Given the description of an element on the screen output the (x, y) to click on. 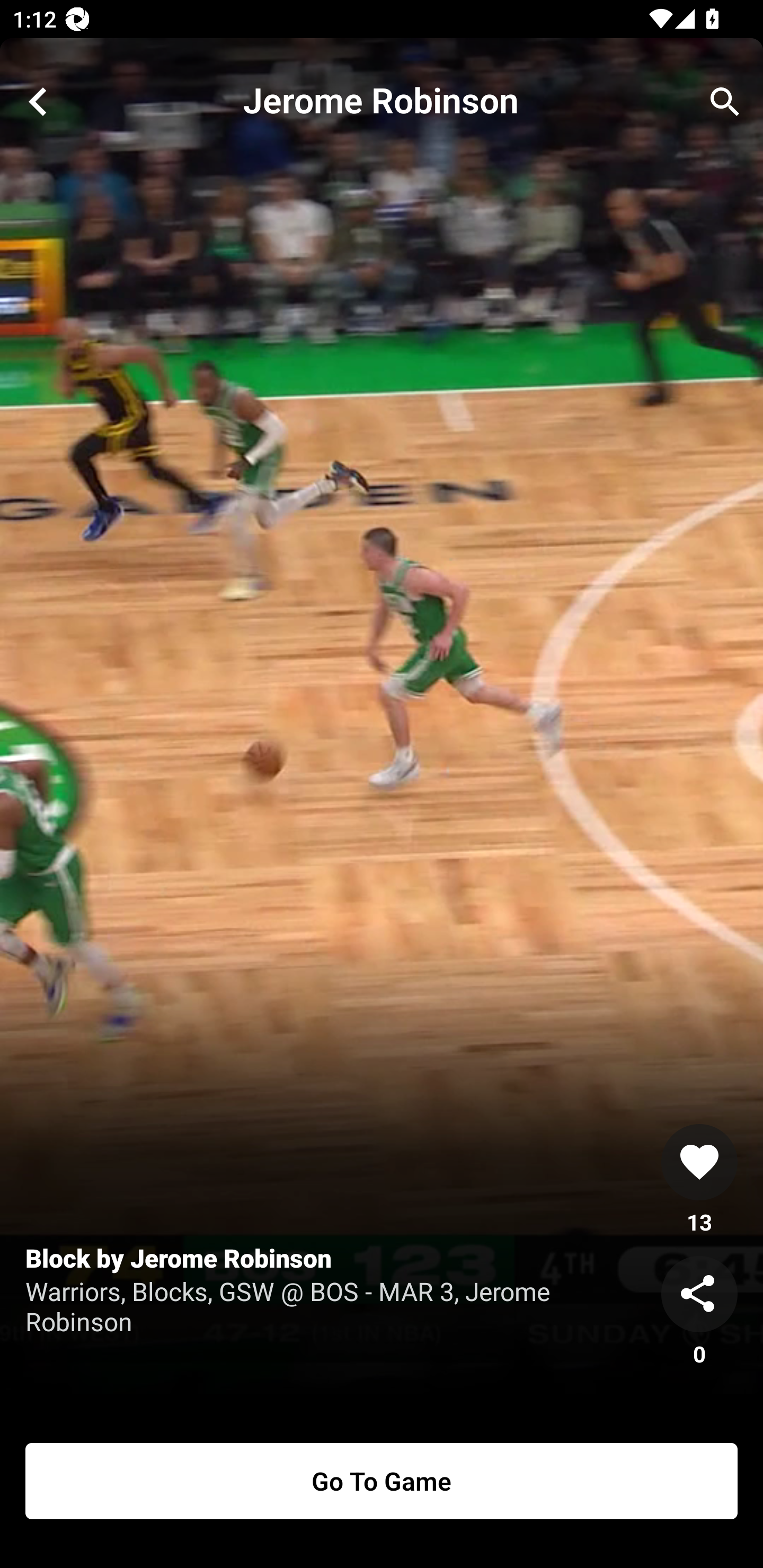
close (38, 101)
search (724, 101)
like 13 13 Likes (699, 1180)
share 0 0 Shares (699, 1311)
Go To Game (381, 1480)
